Given the description of an element on the screen output the (x, y) to click on. 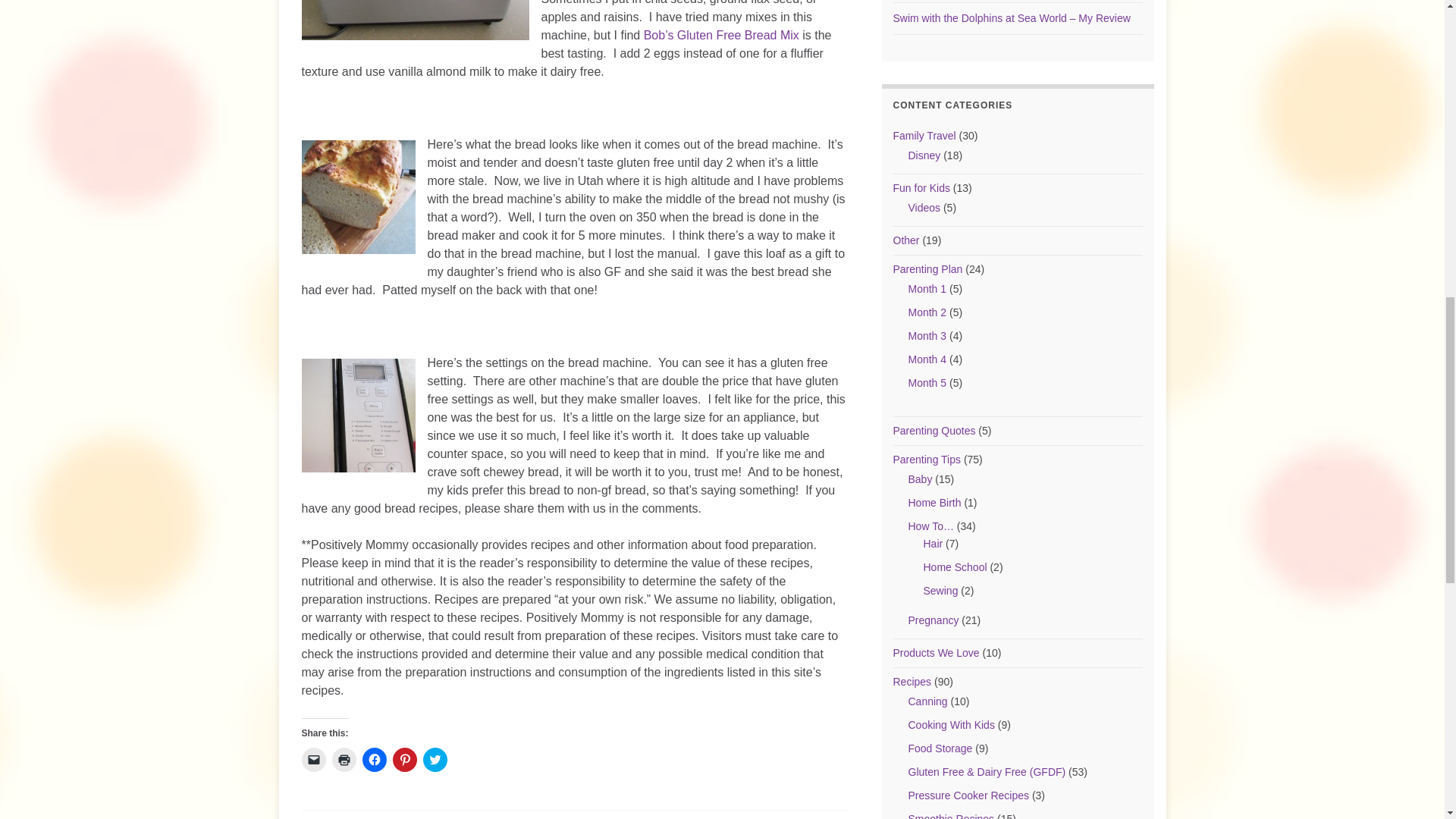
Click to share on Twitter (434, 759)
Click to share on Pinterest (404, 759)
Click to share on Facebook (374, 759)
Click to print (343, 759)
Click to email a link to a friend (313, 759)
